Given the description of an element on the screen output the (x, y) to click on. 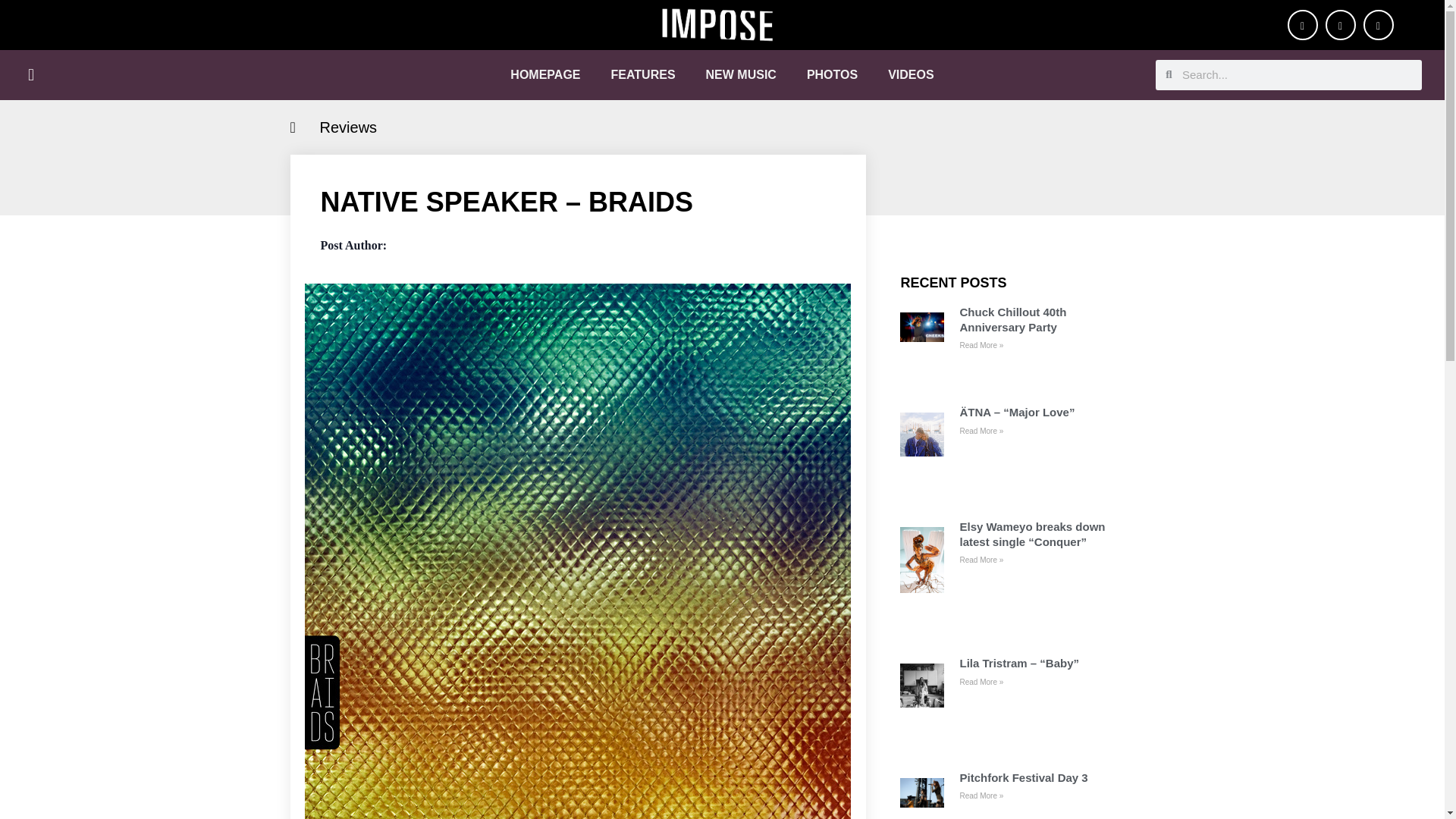
Reviews (348, 126)
VIDEOS (910, 74)
NEW MUSIC (741, 74)
HOMEPAGE (545, 74)
PHOTOS (832, 74)
Chuck Chillout 40th Anniversary Party (1039, 319)
FEATURES (642, 74)
